Given the description of an element on the screen output the (x, y) to click on. 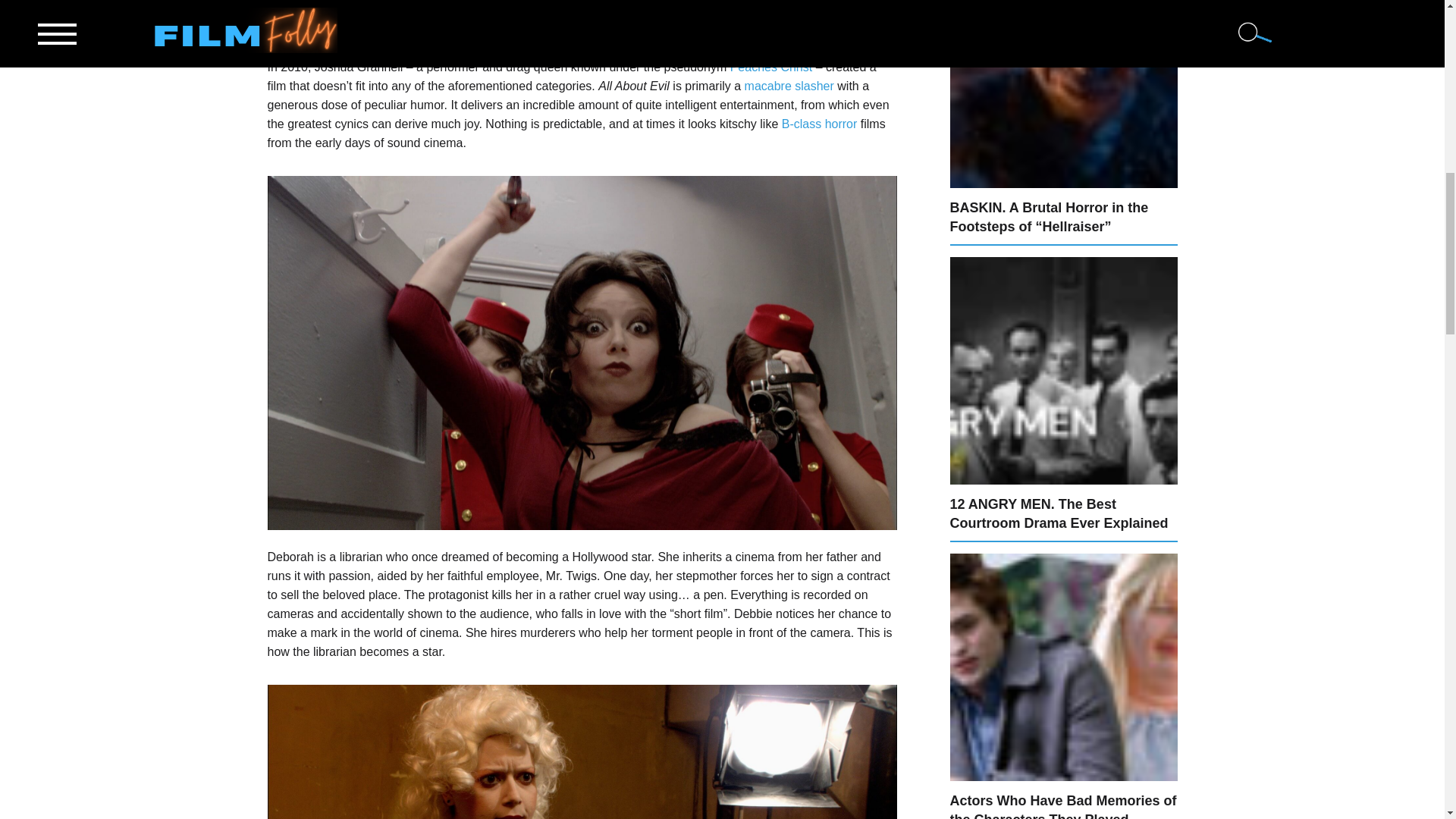
Peaches Christ (771, 66)
Actors Who Have Bad Memories of the Characters They Played (1062, 806)
macabre slasher (789, 85)
B-class horror (819, 123)
12 ANGRY MEN. The Best Courtroom Drama Ever Explained (1058, 513)
